Given the description of an element on the screen output the (x, y) to click on. 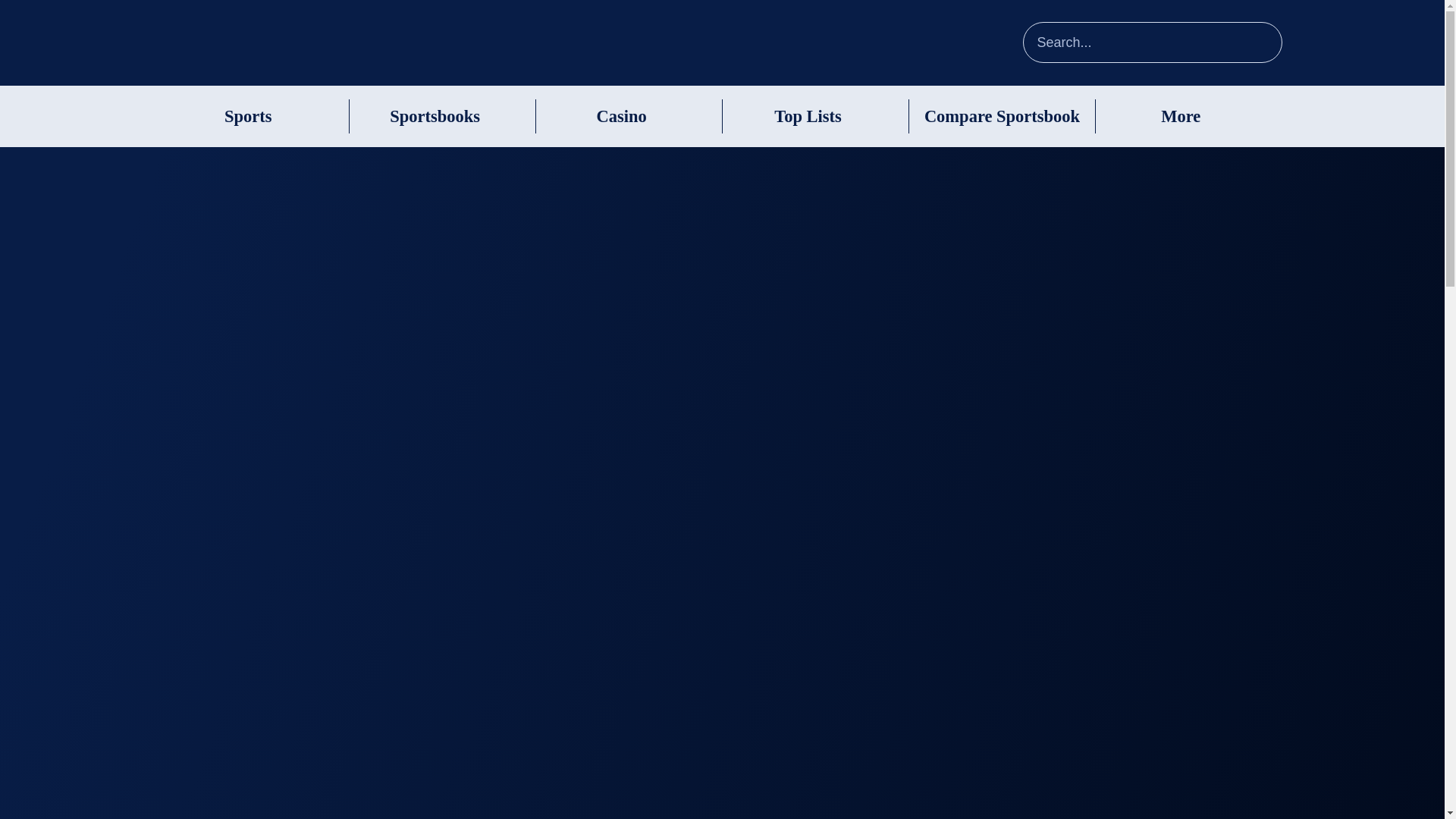
Sportsbooks (435, 116)
Top Lists (807, 116)
Casino (620, 116)
Sports (248, 116)
